Given the description of an element on the screen output the (x, y) to click on. 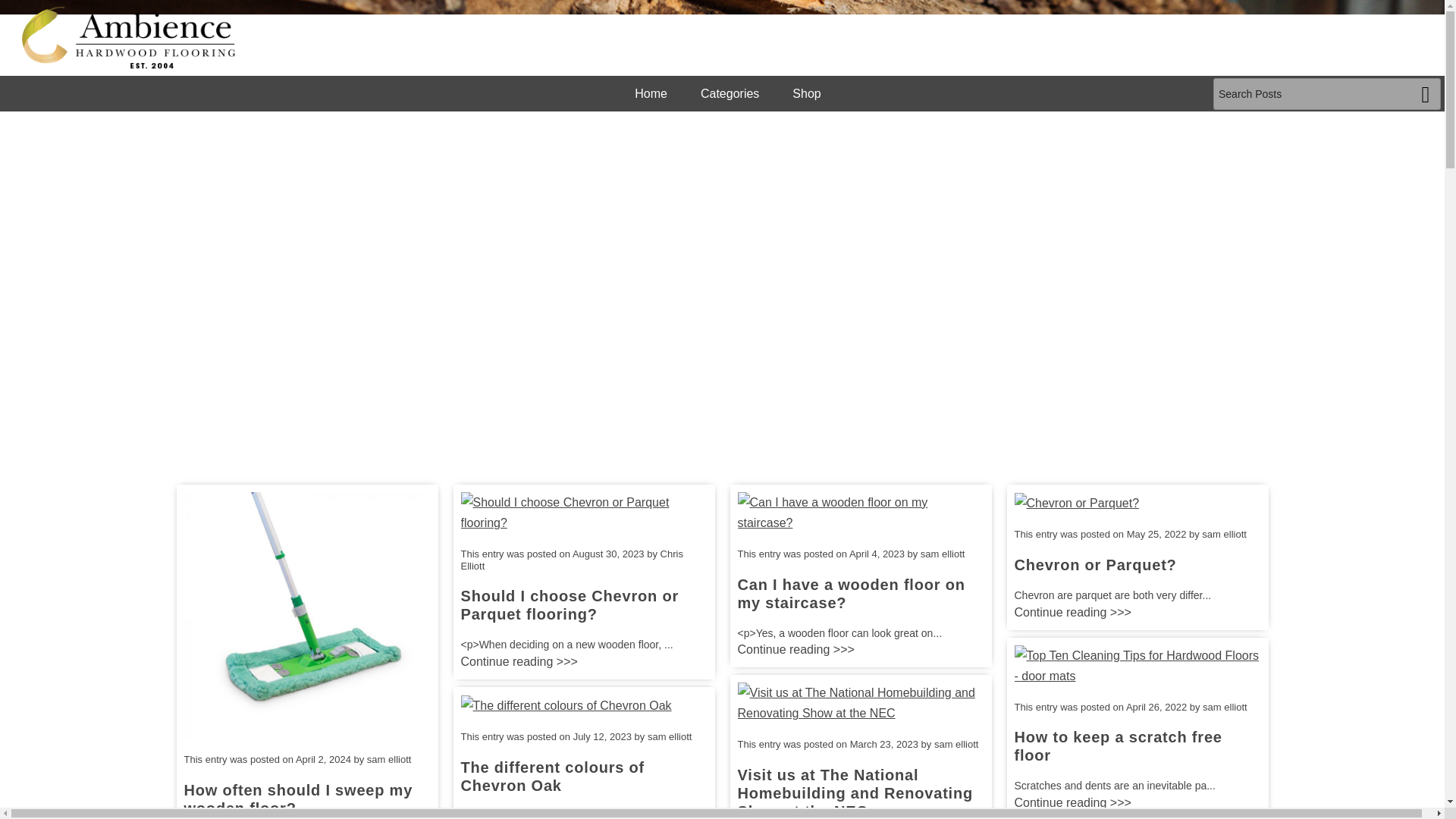
Ambience Hardwood Flooring (128, 37)
How often should I sweep my wooden floor? (297, 799)
Search (1425, 93)
How often should I sweep my wooden floor? (306, 614)
Categories (729, 93)
Shop (806, 93)
Home (651, 93)
How often should I sweep my wooden floor? (297, 799)
